Given the description of an element on the screen output the (x, y) to click on. 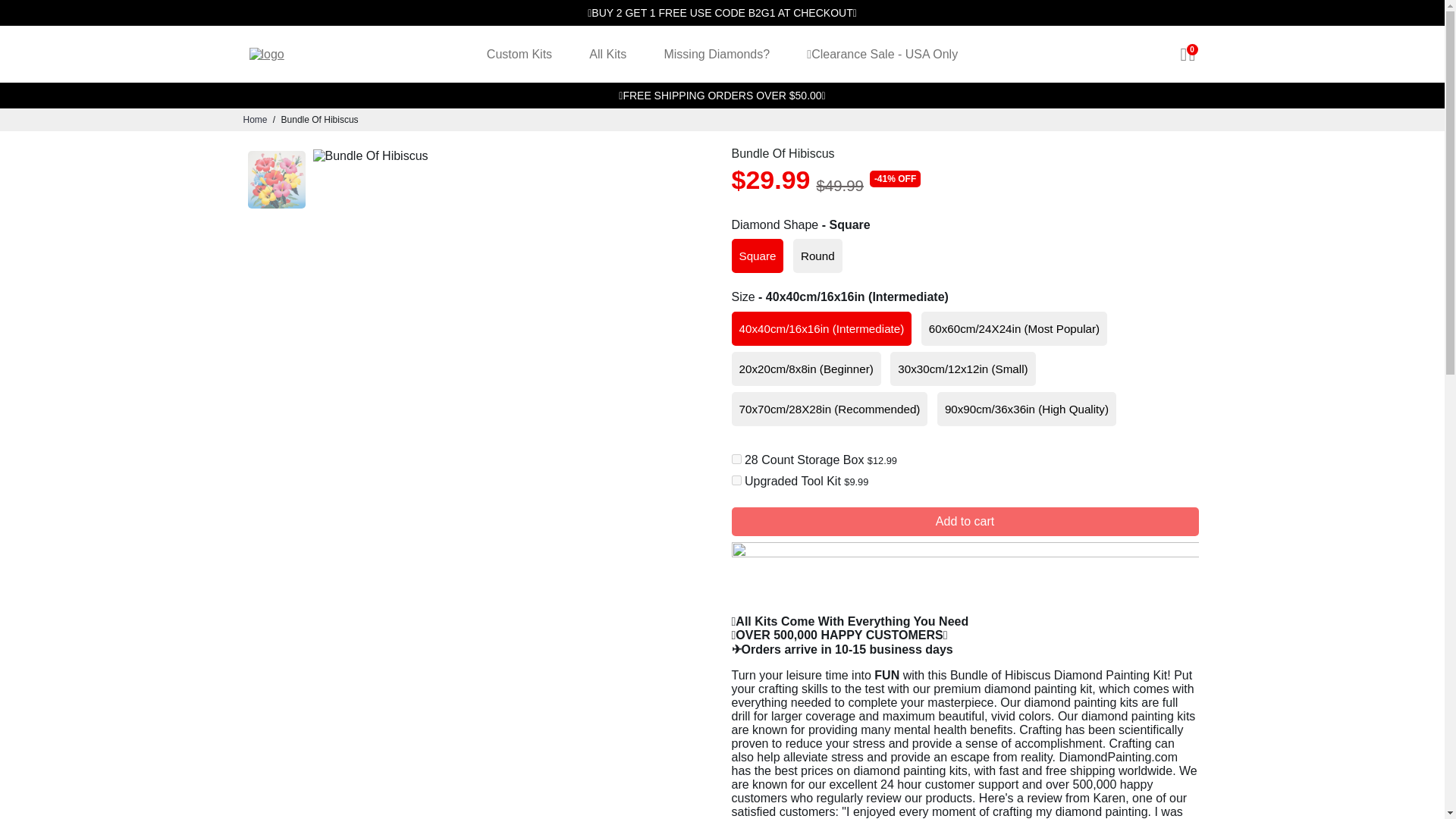
Missing Diamonds? (715, 53)
on (735, 480)
on (735, 459)
All Kits (607, 53)
Home (254, 119)
Add to cart (964, 521)
Custom Kits (519, 53)
Home (254, 119)
